Given the description of an element on the screen output the (x, y) to click on. 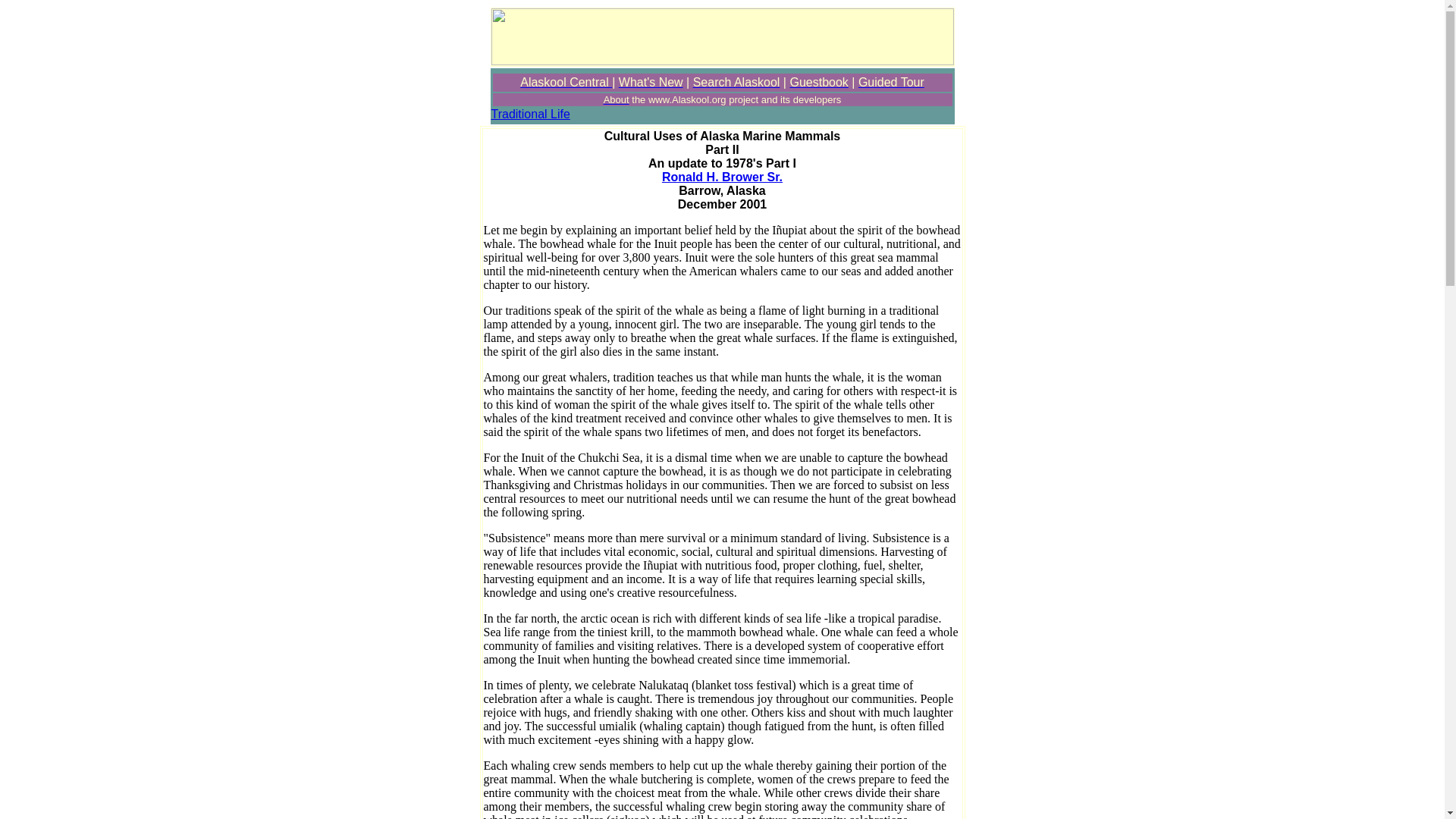
Ronald H. Brower Sr. (722, 176)
Search Alaskool (736, 82)
Traditional Life (531, 113)
Guided Tour (891, 82)
About (616, 98)
What's New (650, 82)
Alaskool Central (565, 82)
Guestbook (818, 82)
